Given the description of an element on the screen output the (x, y) to click on. 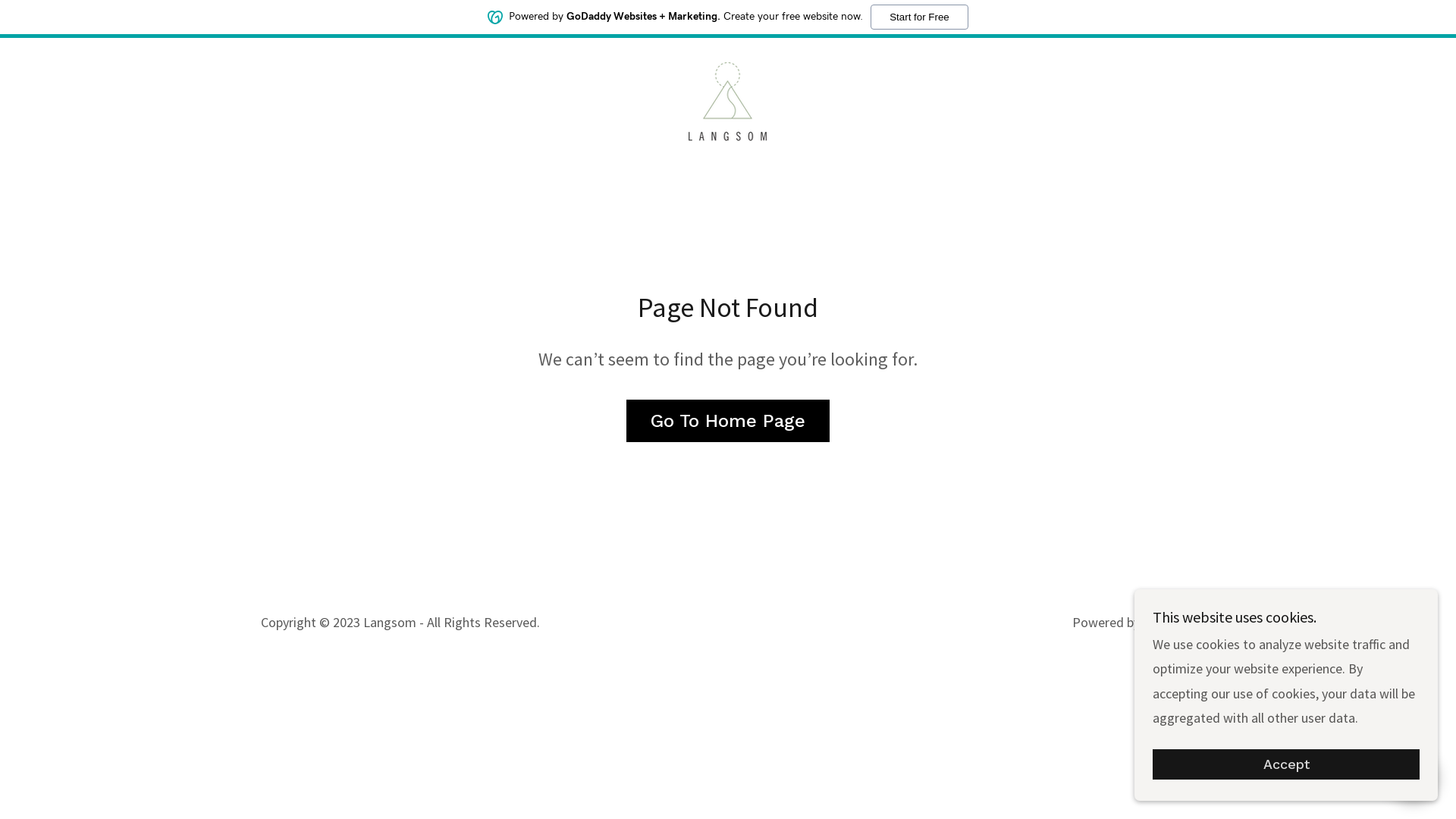
Accept Element type: text (1285, 764)
Langsom Element type: hover (727, 99)
Start for Free Element type: text (919, 16)
Go To Home Page Element type: text (727, 420)
GoDaddy Element type: text (1168, 623)
